Given the description of an element on the screen output the (x, y) to click on. 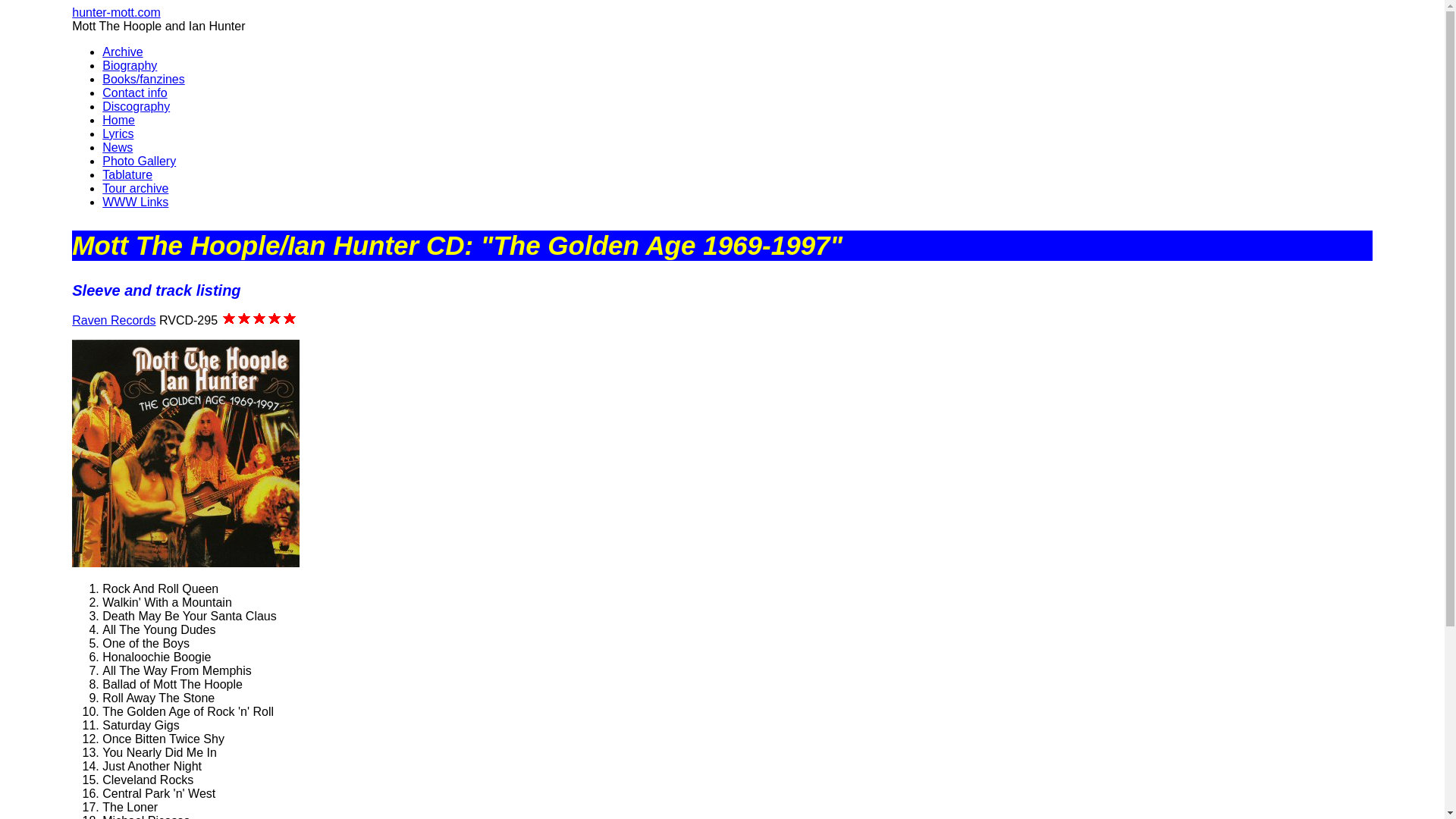
Biography (129, 65)
hunter-mott.com (115, 11)
Contact info (134, 92)
Tablature (126, 174)
Archive (121, 51)
Tour archive (134, 187)
Photo Gallery (138, 160)
WWW Links (134, 201)
Lyrics (117, 133)
Raven Records (113, 319)
News (116, 146)
Home (118, 119)
Discography (135, 106)
